Given the description of an element on the screen output the (x, y) to click on. 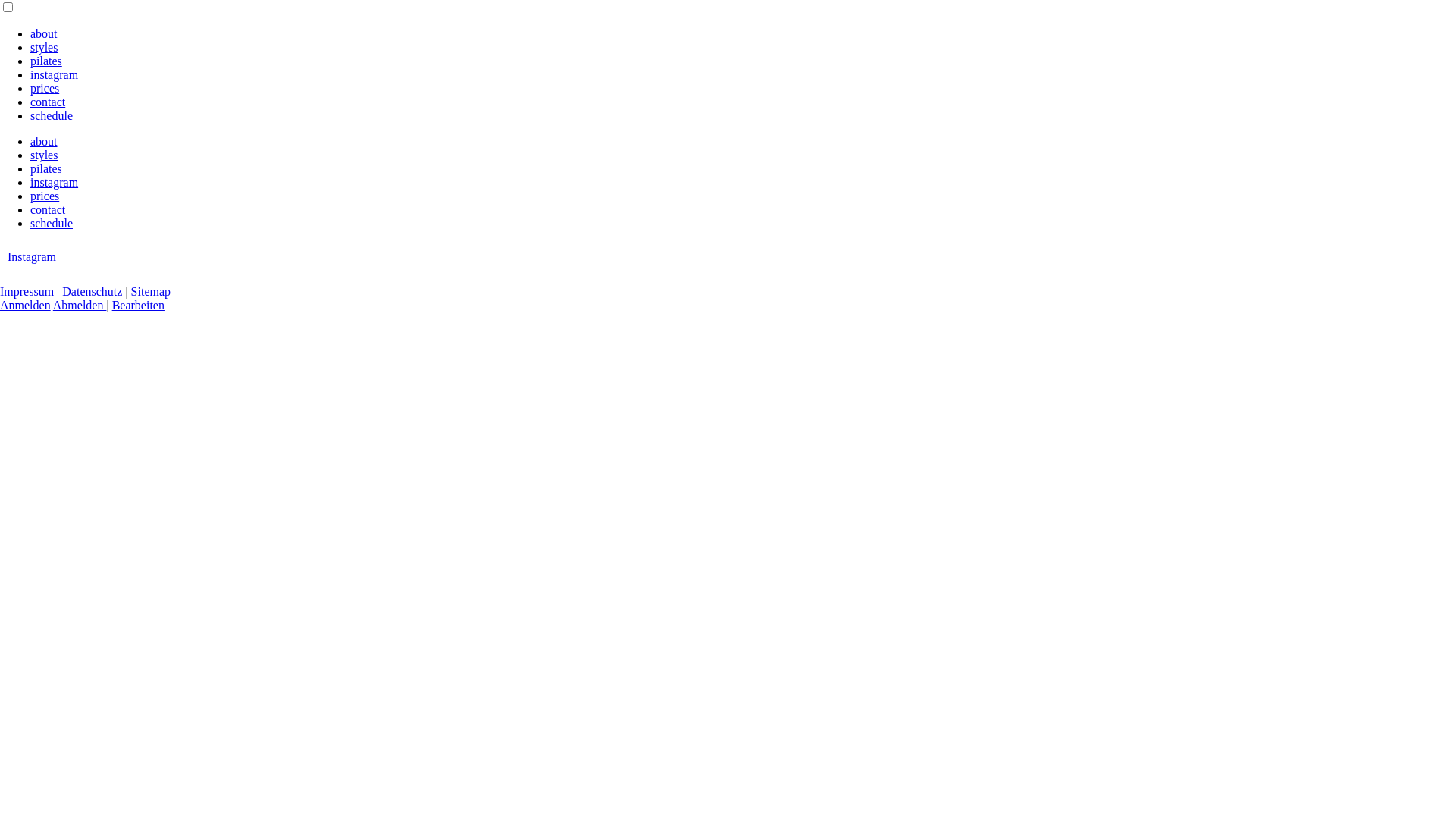
Sitemap Element type: text (150, 291)
prices Element type: text (44, 195)
Datenschutz Element type: text (92, 291)
contact Element type: text (47, 101)
Instagram Element type: text (31, 256)
Impressum Element type: text (26, 291)
instagram Element type: text (54, 181)
about Element type: text (43, 140)
Bearbeiten Element type: text (138, 304)
styles Element type: text (43, 46)
styles Element type: text (43, 154)
schedule Element type: text (51, 115)
pilates Element type: text (46, 60)
Anmelden Element type: text (25, 304)
schedule Element type: text (51, 222)
prices Element type: text (44, 87)
about Element type: text (43, 33)
pilates Element type: text (46, 168)
contact Element type: text (47, 209)
instagram Element type: text (54, 74)
Abmelden Element type: text (79, 304)
